Given the description of an element on the screen output the (x, y) to click on. 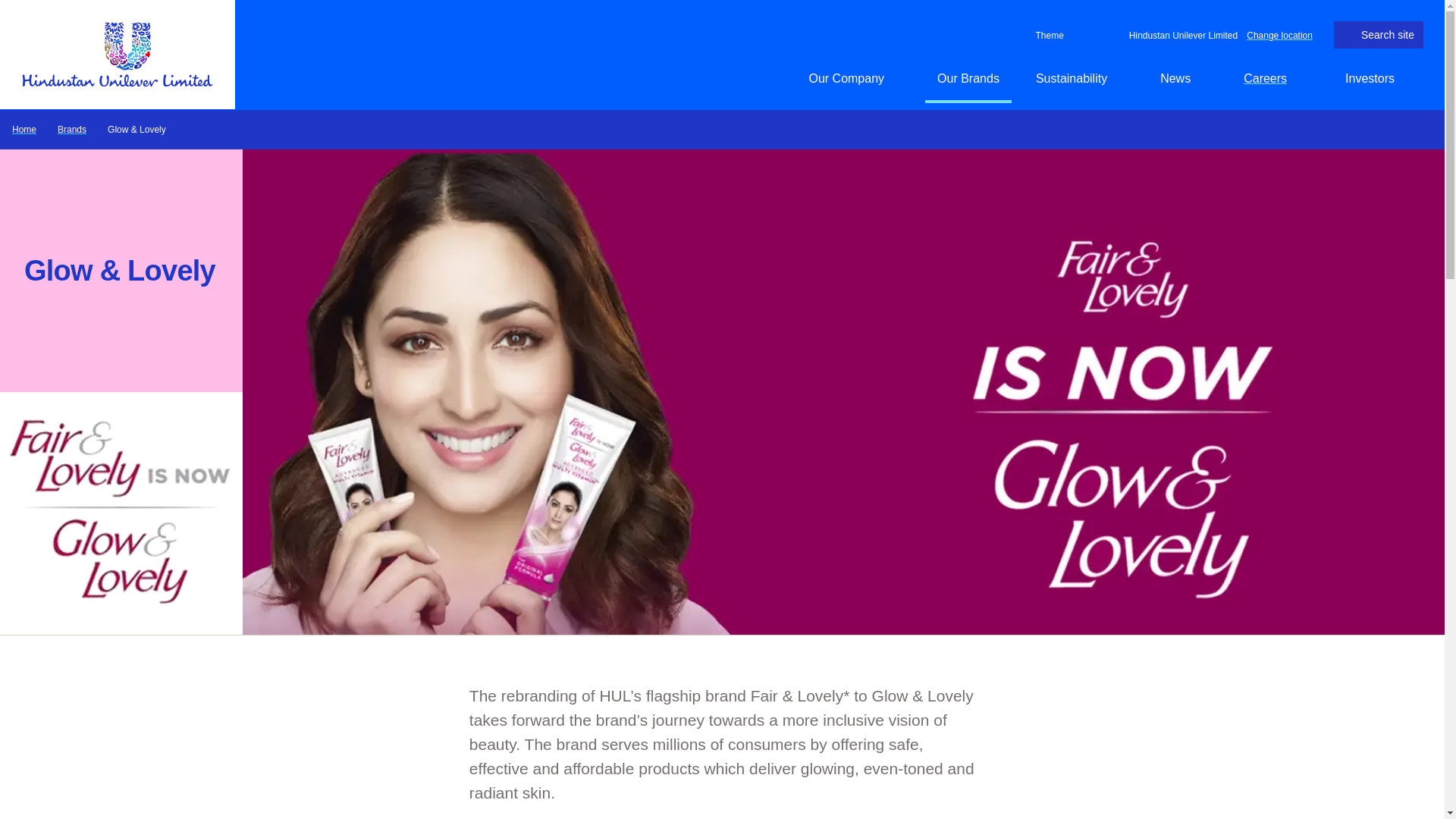
Our Brands (967, 78)
Sustainability (1079, 78)
Our Company (854, 78)
Theme (1046, 35)
Change location (1279, 34)
Search site (1378, 34)
Investors (1378, 78)
News (1184, 78)
